Given the description of an element on the screen output the (x, y) to click on. 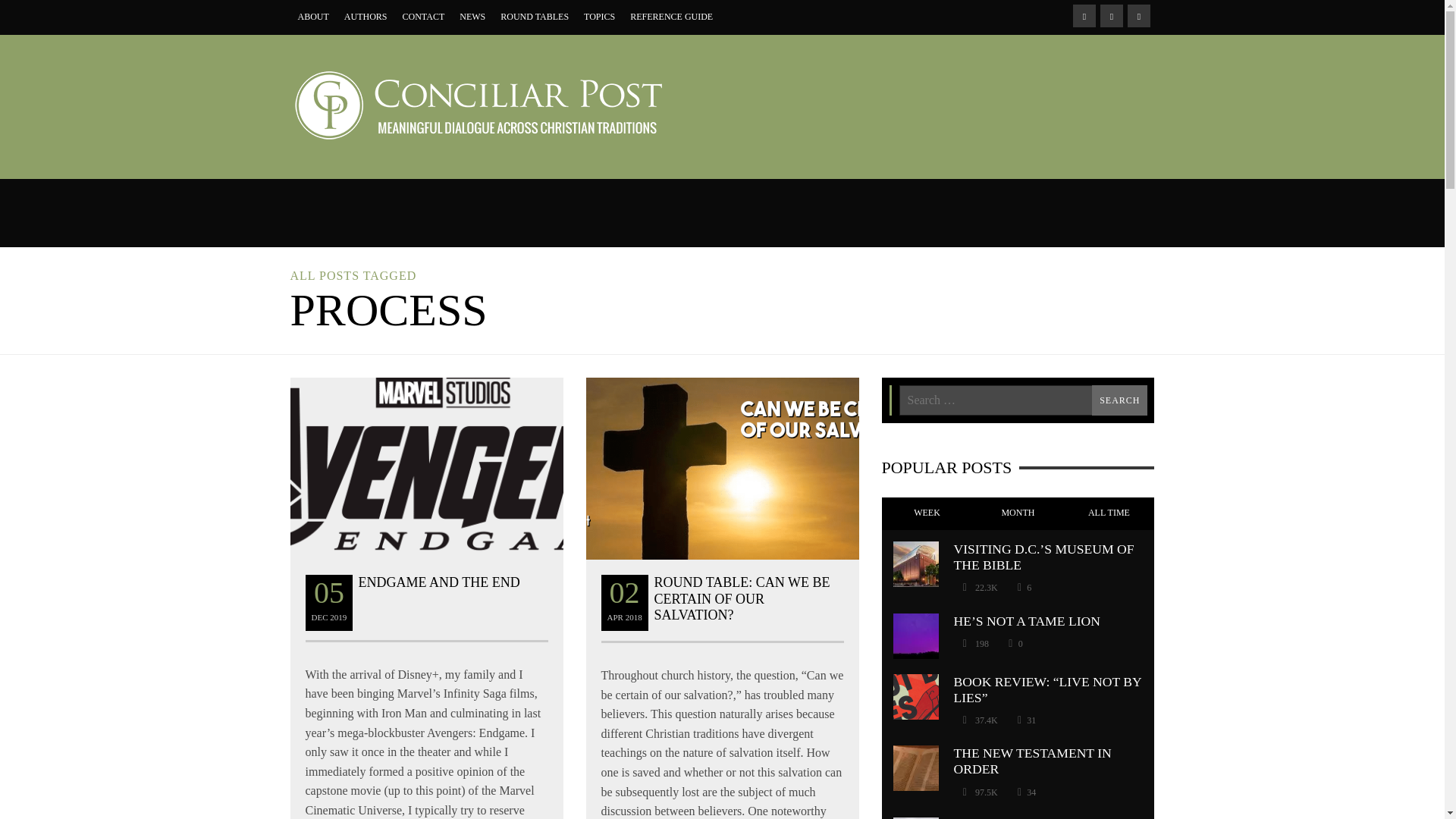
I like this (1026, 720)
TOPICS (599, 17)
AUTHORS (365, 17)
ABOUT (312, 17)
Permalink to Endgame and the End (438, 581)
Search (1119, 399)
I like this (1014, 643)
CONTACT (423, 17)
Instagram (1110, 15)
